Given the description of an element on the screen output the (x, y) to click on. 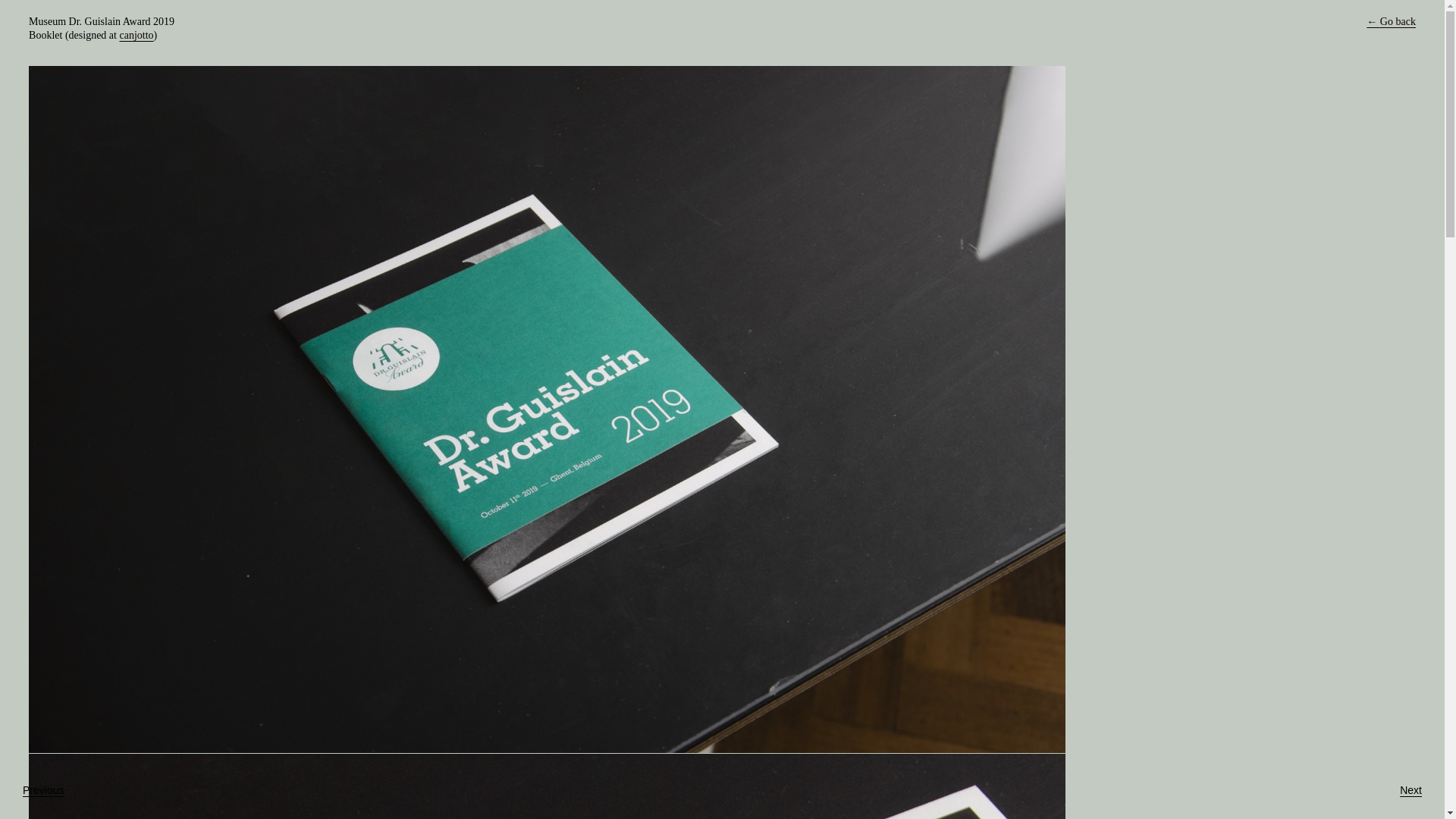
Previous Element type: text (43, 789)
Next Element type: text (1410, 789)
canjotto Element type: text (136, 34)
